Given the description of an element on the screen output the (x, y) to click on. 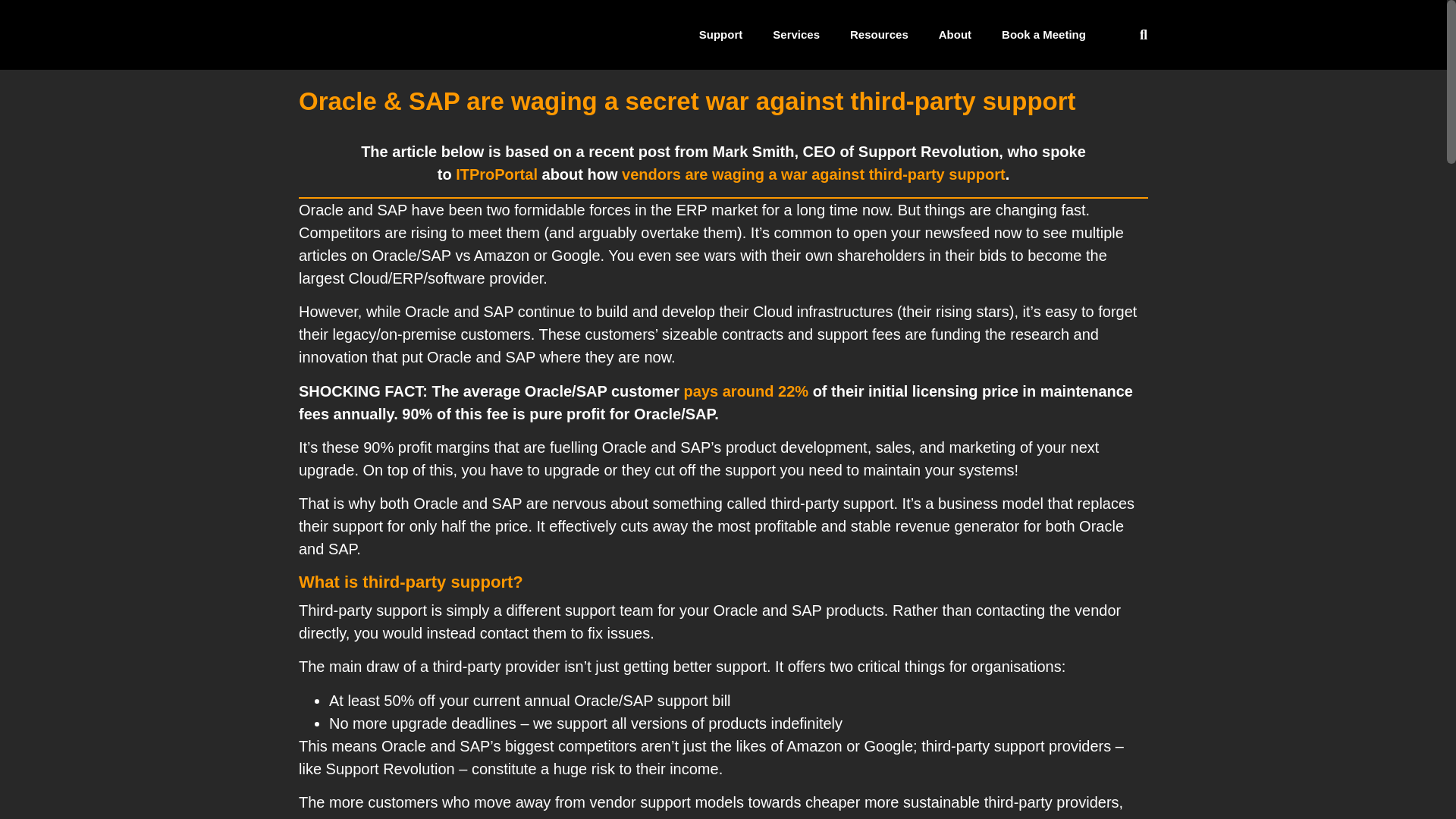
Resources (878, 34)
Support (721, 34)
Book a Meeting (1043, 34)
About (955, 34)
Services (795, 34)
